Given the description of an element on the screen output the (x, y) to click on. 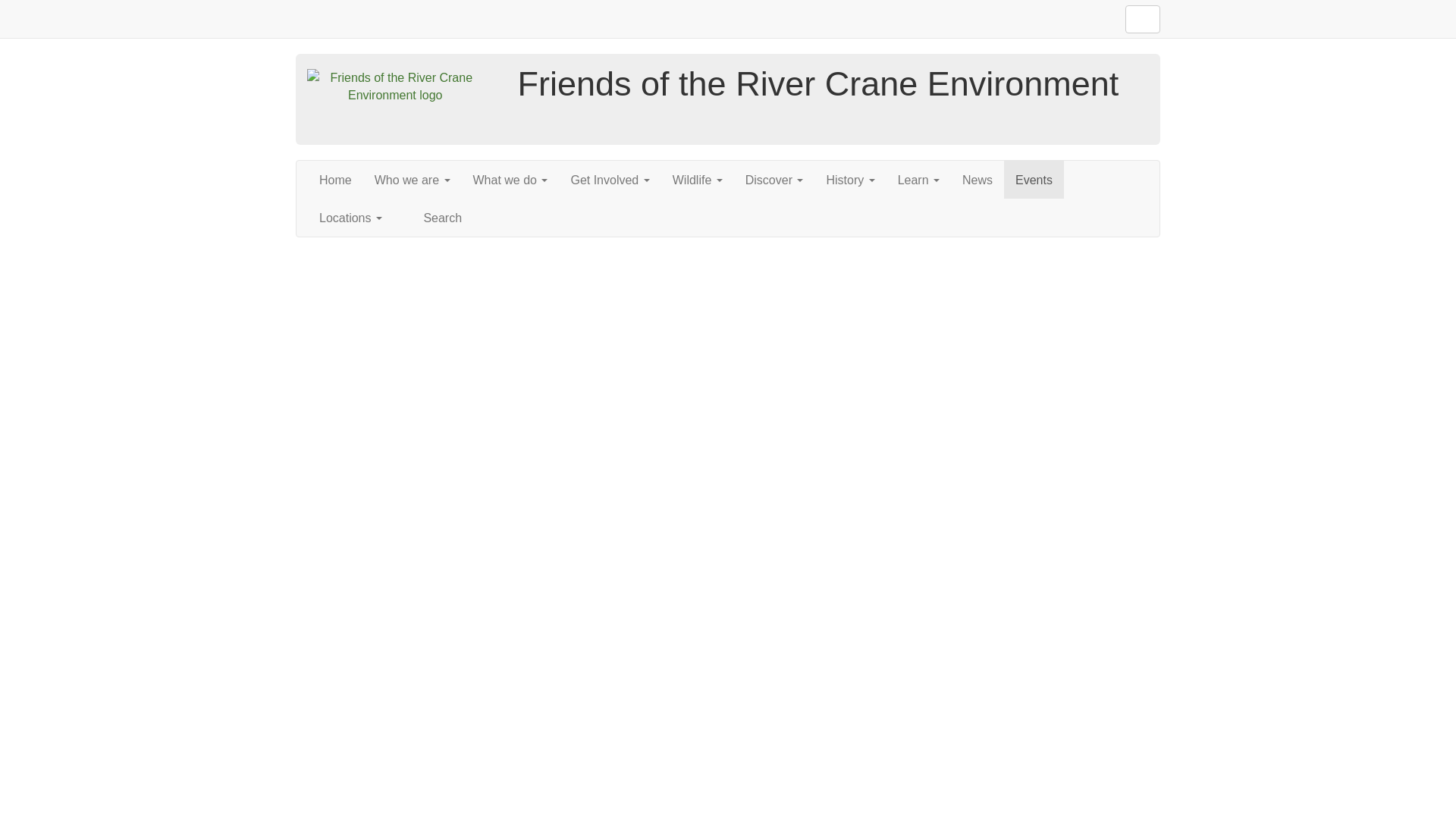
Get Involved (610, 179)
Discover (774, 179)
Who we are (411, 179)
What we do (510, 179)
Home (334, 179)
Wildlife (697, 179)
